Given the description of an element on the screen output the (x, y) to click on. 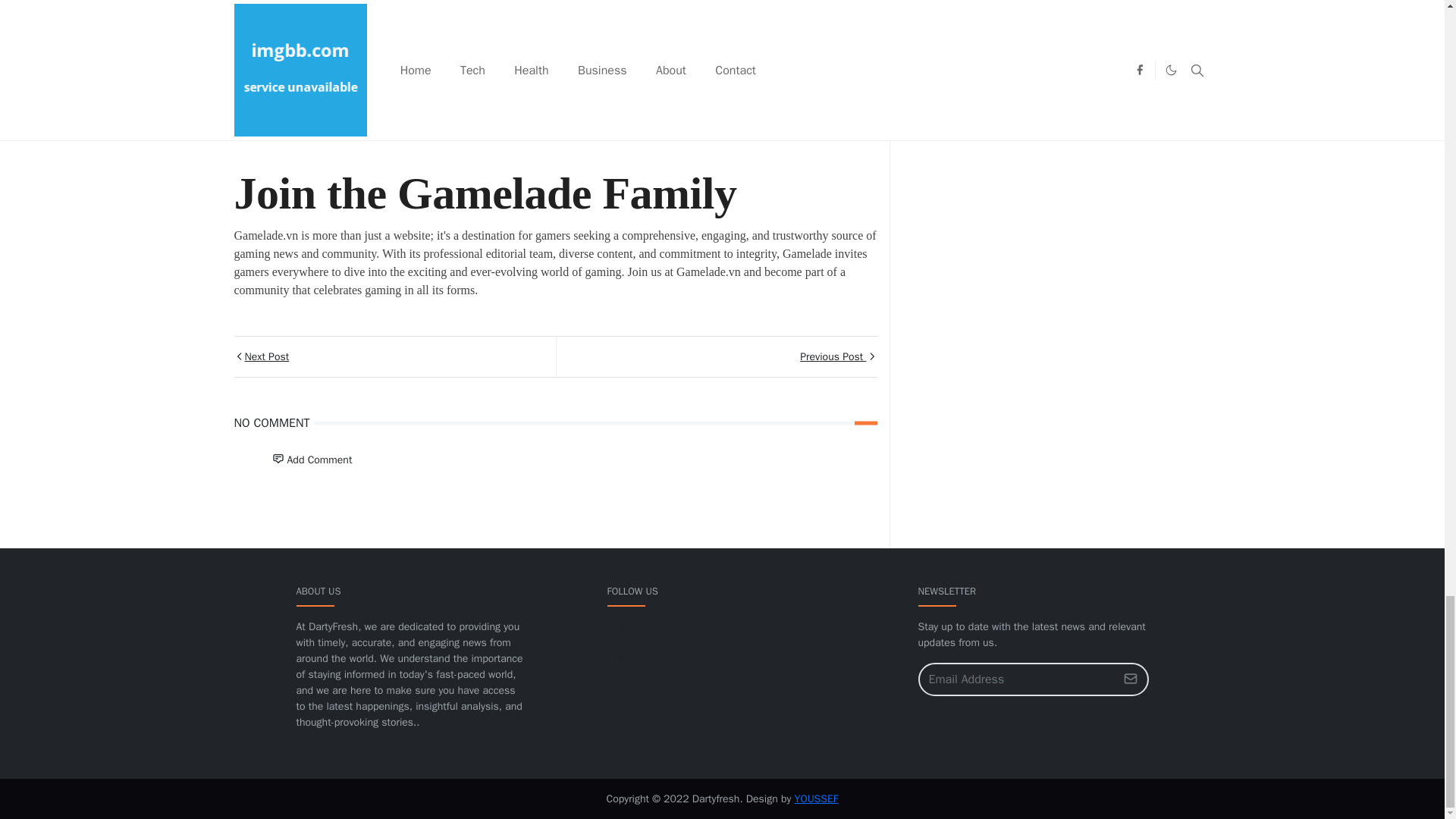
Previous Post (715, 356)
Add Comment (311, 459)
Next Post (393, 356)
